Given the description of an element on the screen output the (x, y) to click on. 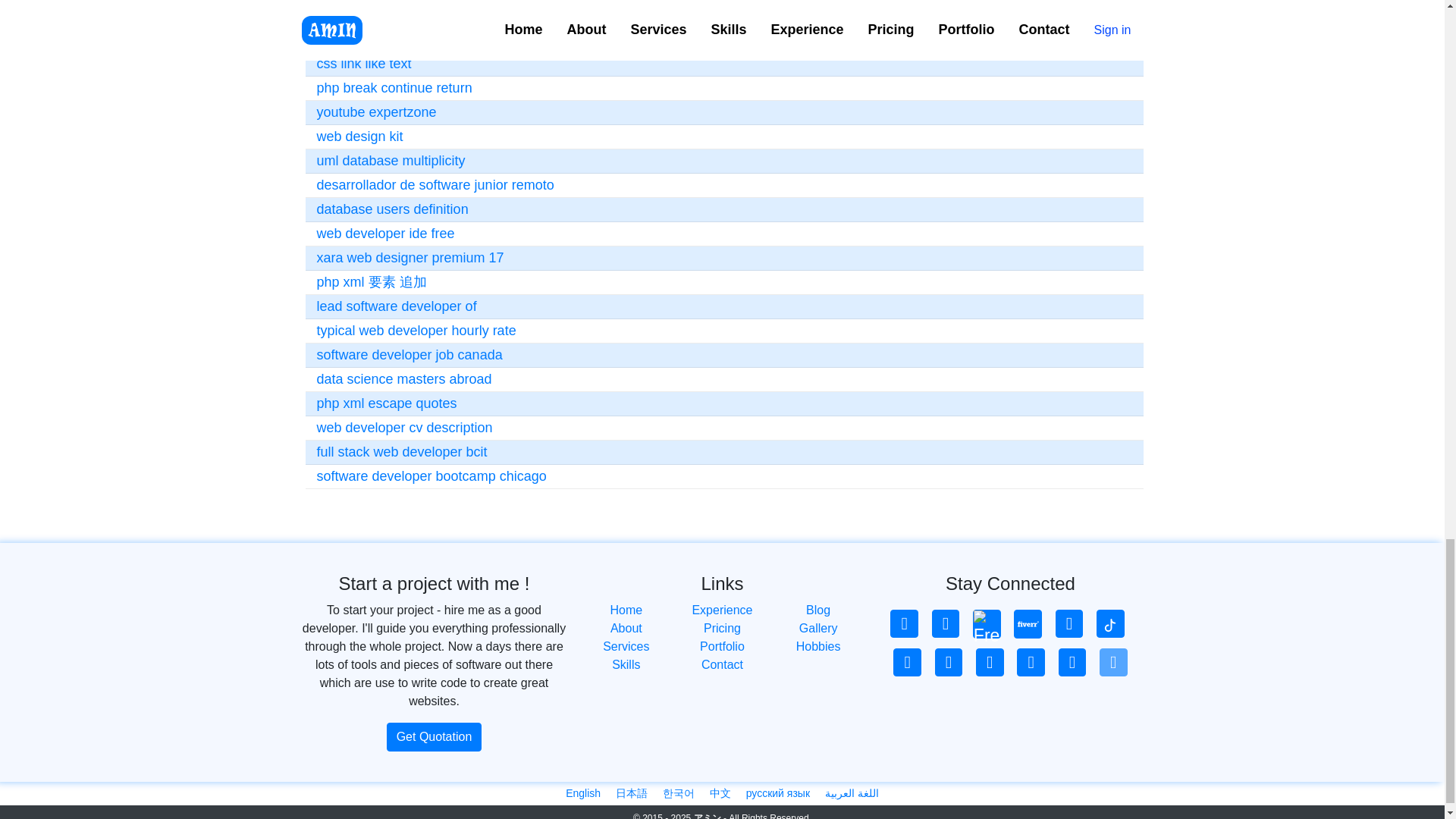
WhatsApp (989, 662)
Freelancer (986, 623)
TikTok (1110, 623)
GitHub (945, 623)
LINE (1072, 662)
Fiverr (1027, 623)
Twitter (948, 662)
WeChat (1112, 662)
Linkedin (903, 623)
Skype (1030, 662)
YouTube (1069, 623)
Facebook (907, 662)
